Given the description of an element on the screen output the (x, y) to click on. 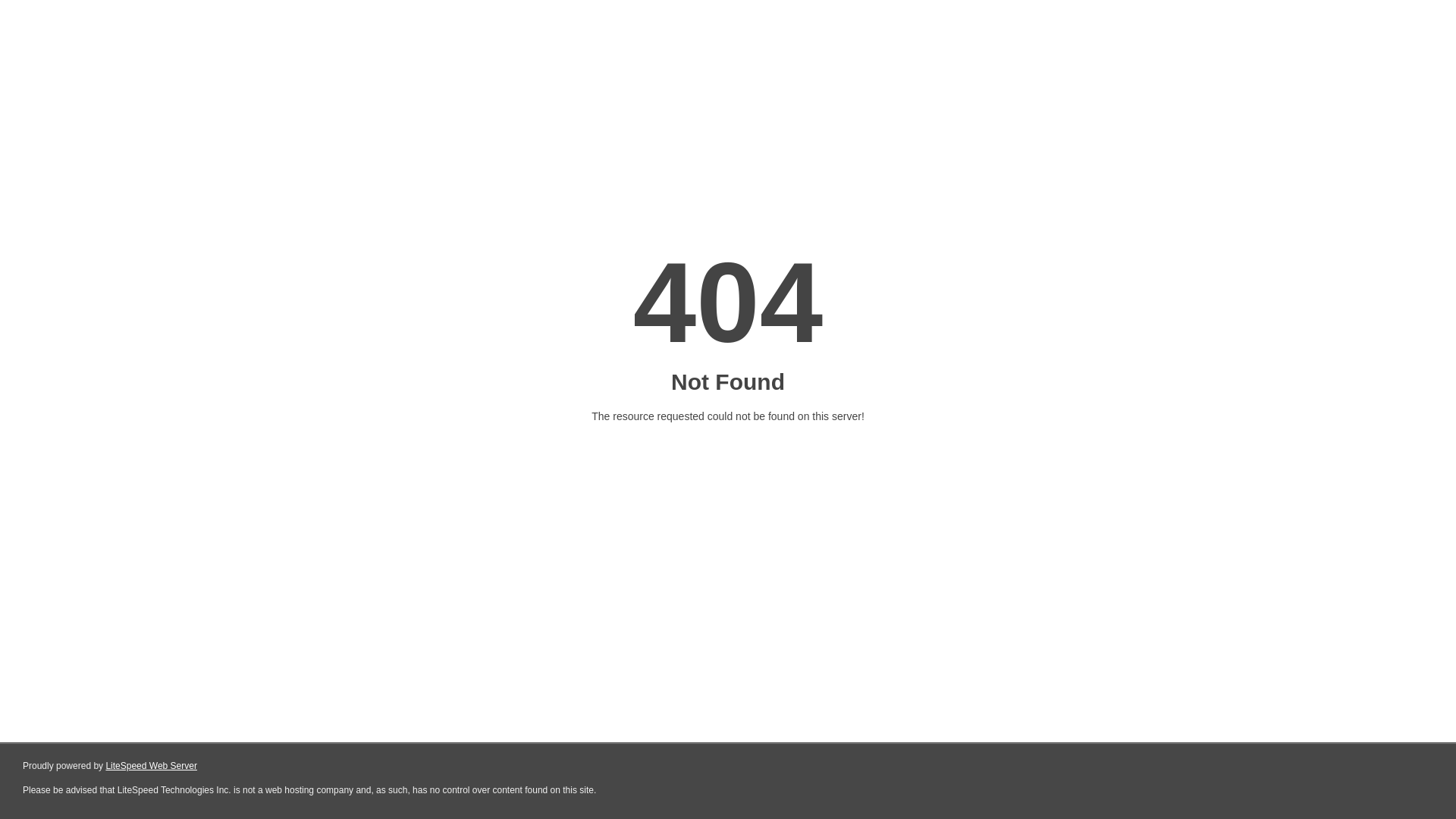
LiteSpeed Web Server Element type: text (151, 765)
